Given the description of an element on the screen output the (x, y) to click on. 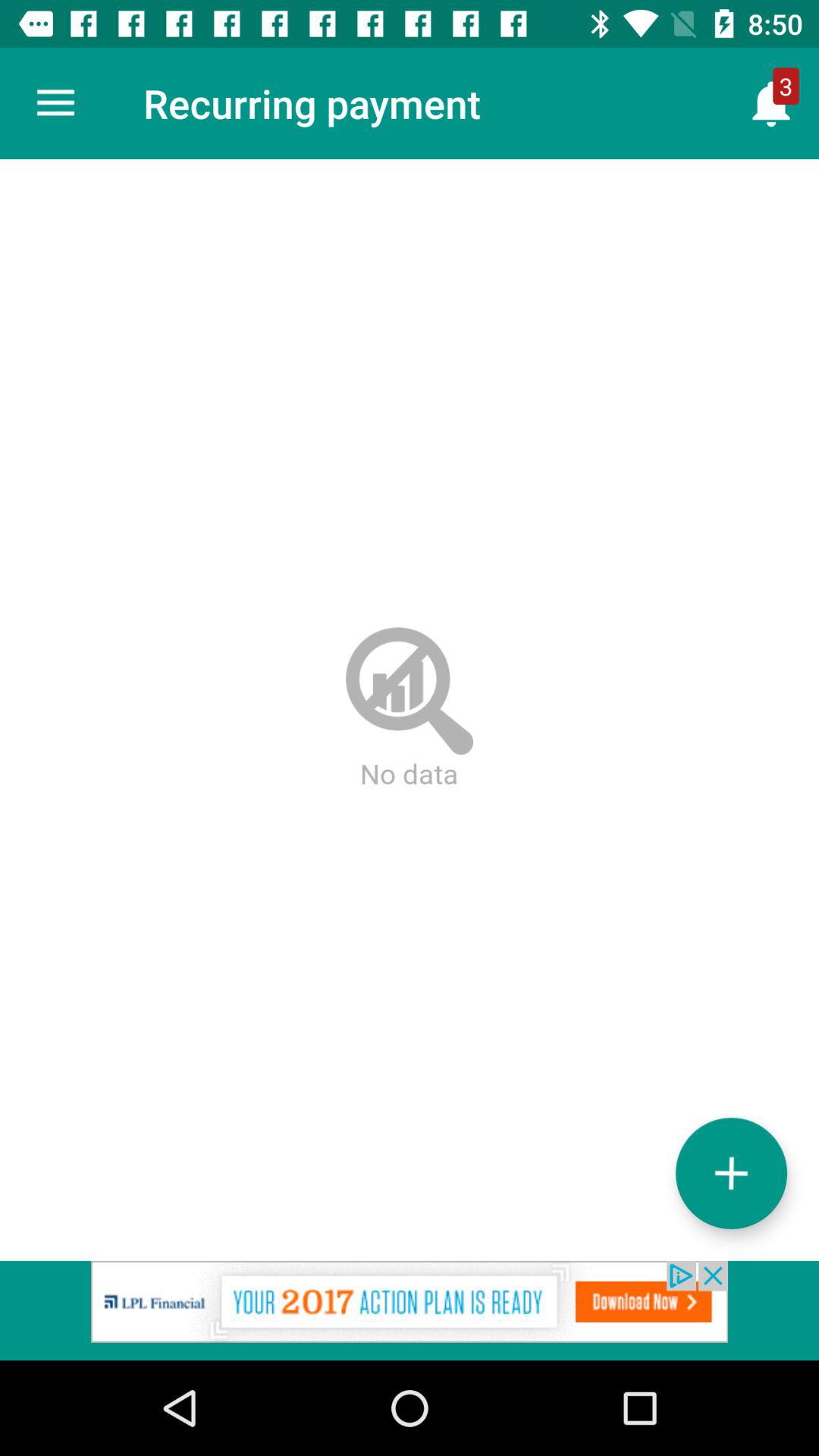
adclick (409, 1310)
